Given the description of an element on the screen output the (x, y) to click on. 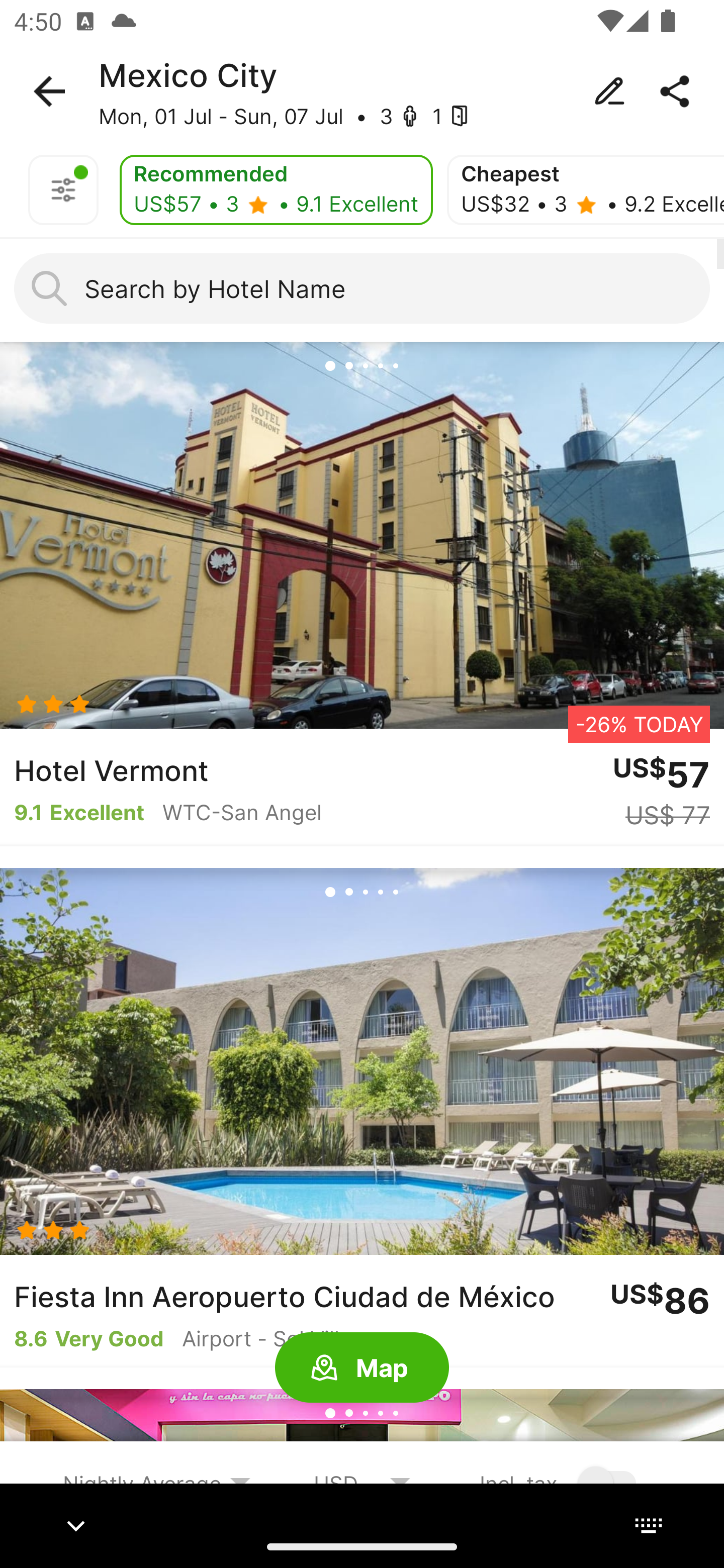
Mexico City Mon, 01 Jul - Sun, 07 Jul  •  3 -  1 - (361, 91)
Recommended  US$57  • 3 - • 9.1 Excellent (275, 190)
Cheapest US$32  • 3 - • 9.2 Excellent (585, 190)
Search by Hotel Name  (361, 288)
Map  (361, 1367)
